Given the description of an element on the screen output the (x, y) to click on. 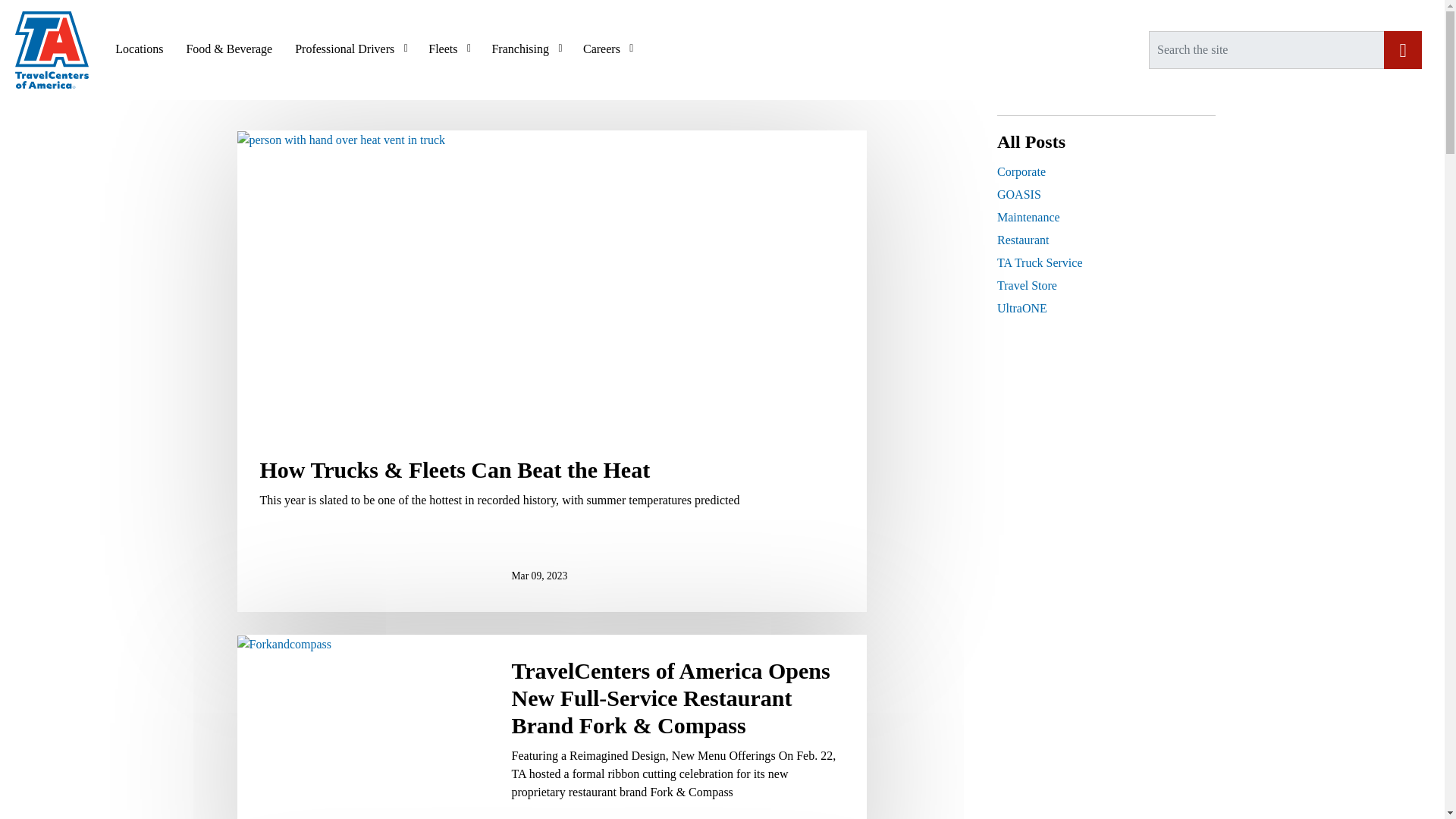
Locations (138, 49)
Careers (607, 49)
Franchising (526, 49)
Professional Drivers (349, 49)
Fleets (448, 49)
Travel Centers of America (51, 49)
